Given the description of an element on the screen output the (x, y) to click on. 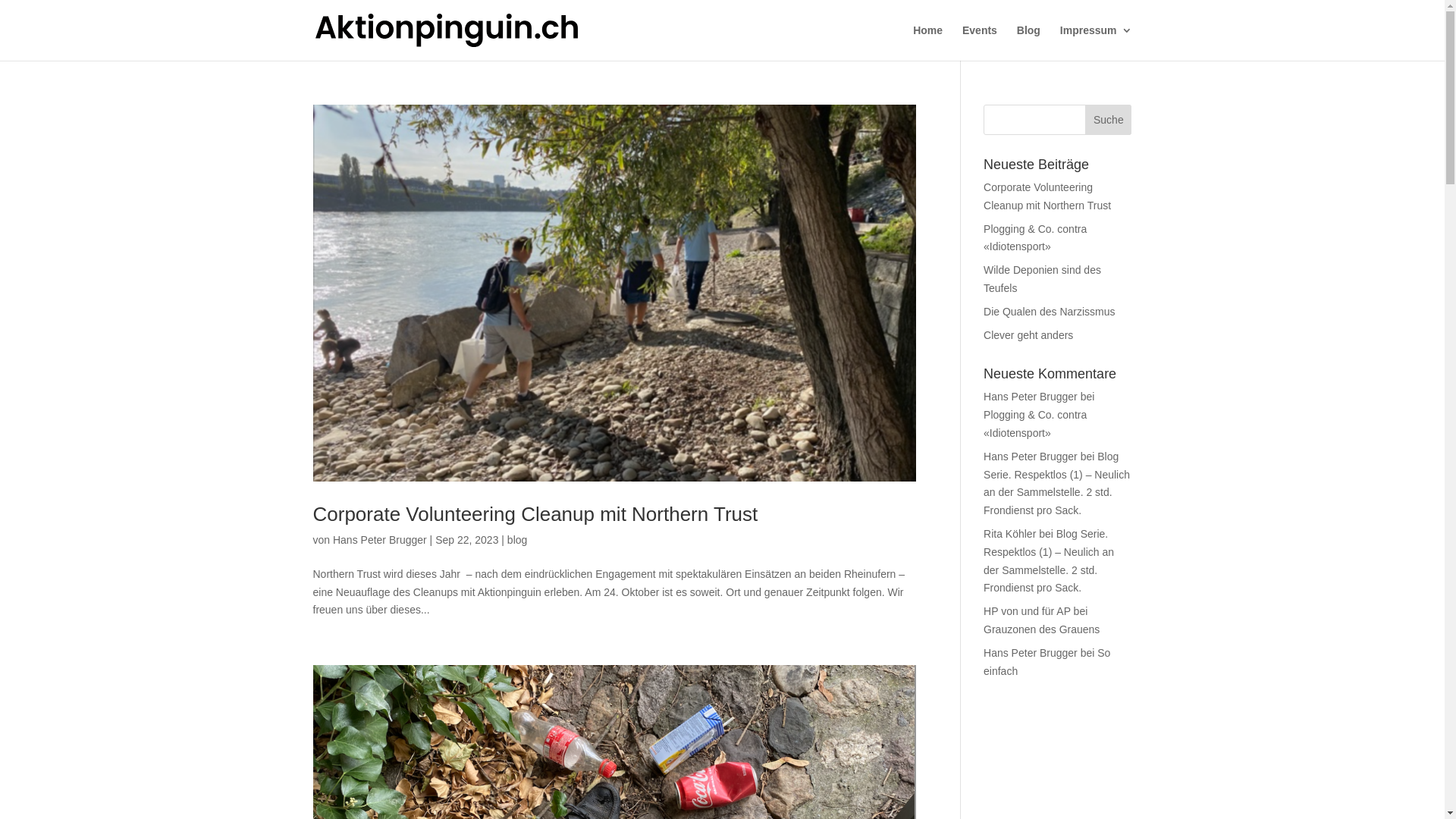
Wilde Deponien sind des Teufels Element type: text (1042, 278)
Hans Peter Brugger Element type: text (379, 539)
Hans Peter Brugger Element type: text (1030, 456)
Hans Peter Brugger Element type: text (1030, 652)
So einfach Element type: text (1046, 661)
Clever geht anders Element type: text (1028, 335)
Corporate Volunteering Cleanup mit Northern Trust Element type: text (1046, 196)
Hans Peter Brugger Element type: text (1030, 396)
Home Element type: text (927, 42)
Events Element type: text (979, 42)
Blog Element type: text (1028, 42)
Grauzonen des Grauens Element type: text (1041, 629)
Suche Element type: text (1108, 119)
Die Qualen des Narzissmus Element type: text (1049, 311)
blog Element type: text (517, 539)
Corporate Volunteering Cleanup mit Northern Trust Element type: text (534, 513)
Impressum Element type: text (1096, 42)
